Given the description of an element on the screen output the (x, y) to click on. 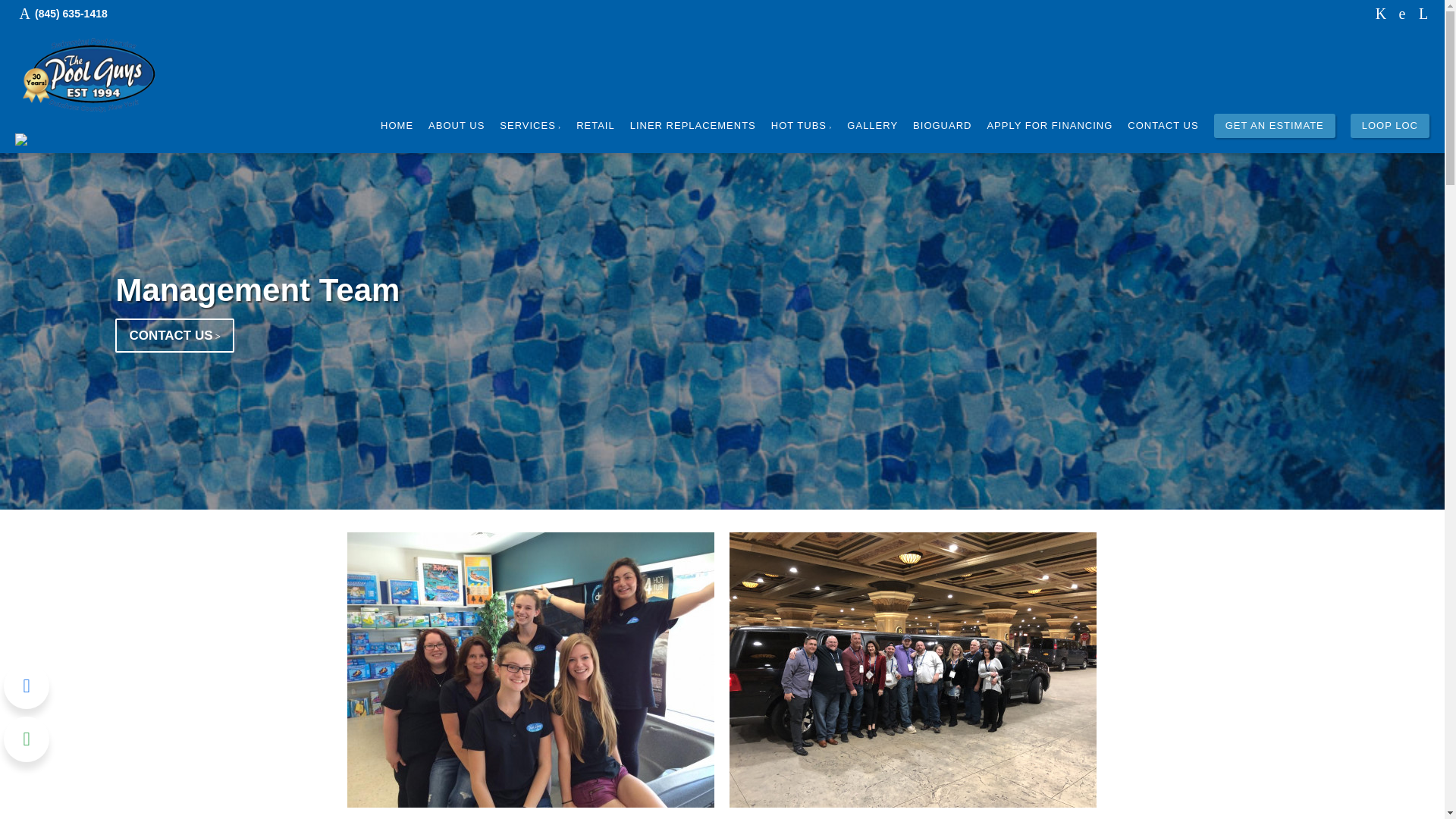
BBB (1401, 13)
APPLY FOR FINANCING (1049, 125)
RETAIL (595, 125)
BIOGUARD (941, 125)
CONTACT US (174, 335)
Management Team (256, 289)
Email (1423, 13)
GALLERY (872, 125)
Facebook (1380, 13)
LINER REPLACEMENTS (692, 125)
LOOP LOC (1390, 125)
CONTACT US (1162, 125)
ABOUT US (456, 125)
HOME (396, 125)
GET AN ESTIMATE (1274, 125)
